Given the description of an element on the screen output the (x, y) to click on. 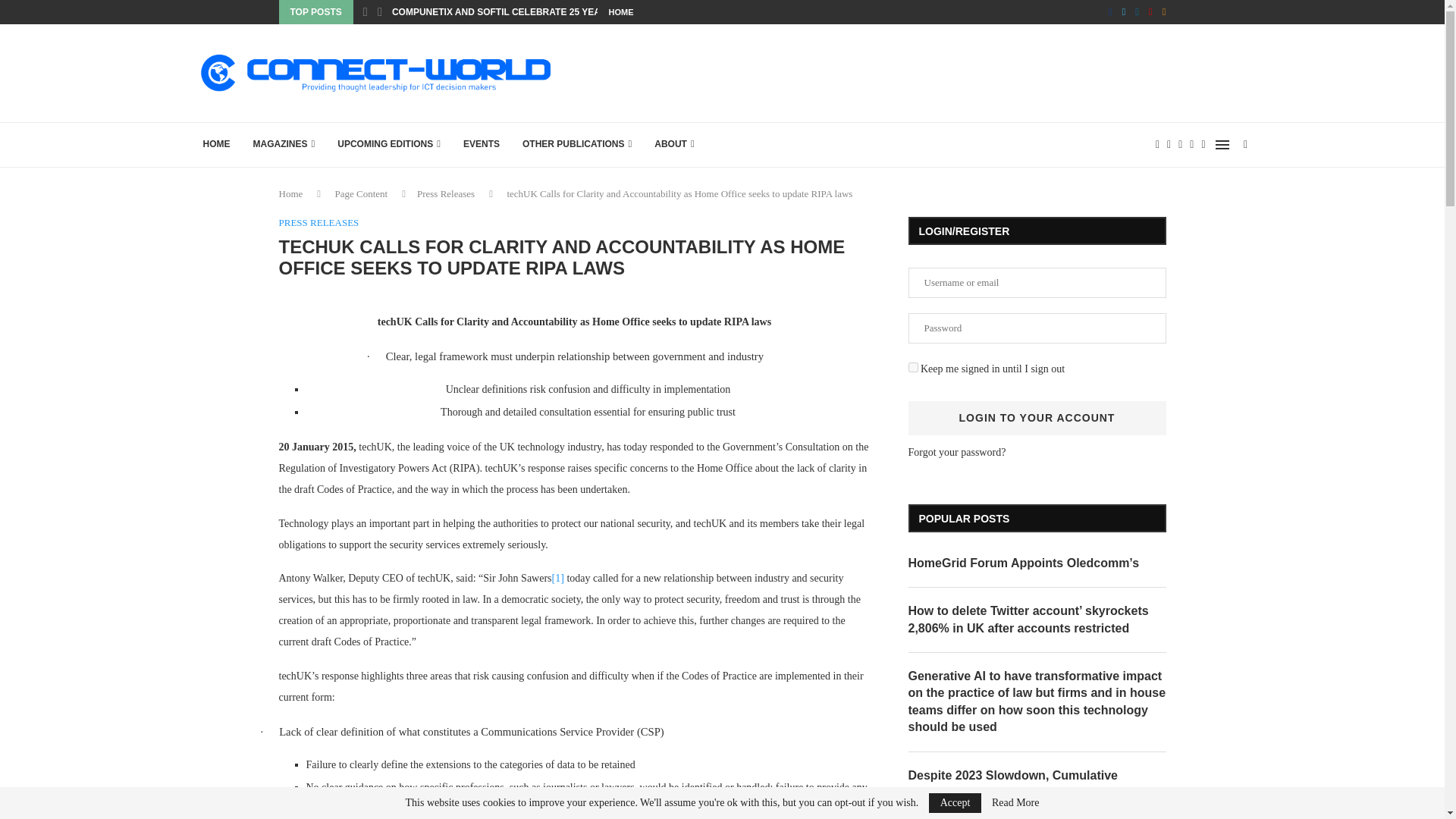
MAGAZINES (283, 144)
HOME (620, 12)
Login to your account (1037, 417)
HOME (215, 144)
forever (913, 367)
